Given the description of an element on the screen output the (x, y) to click on. 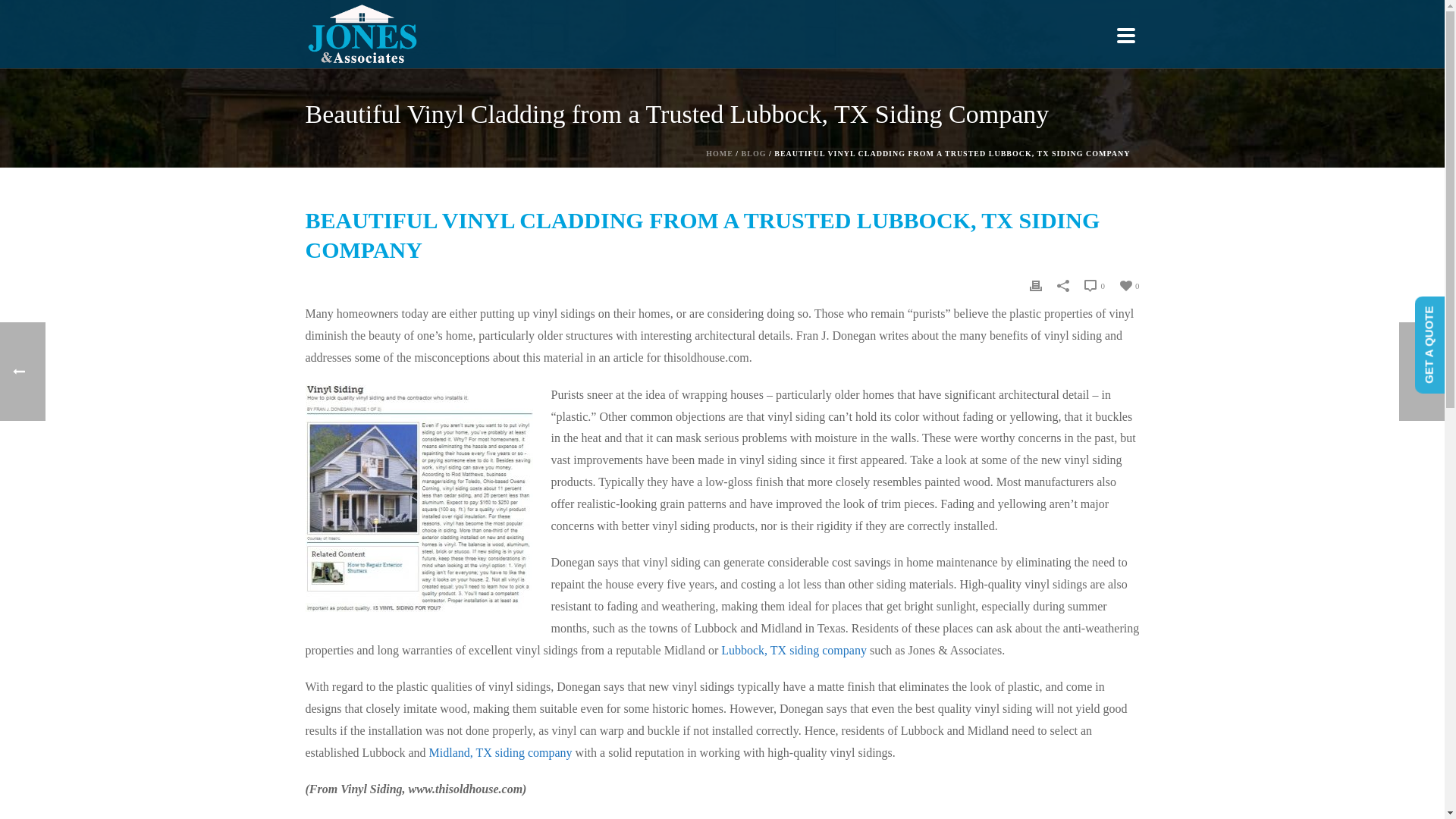
0 (1129, 284)
HOME (719, 153)
BLOG (754, 153)
Lubbock, TX siding company (793, 649)
Midland, TX siding company (500, 752)
0 (1094, 285)
